Given the description of an element on the screen output the (x, y) to click on. 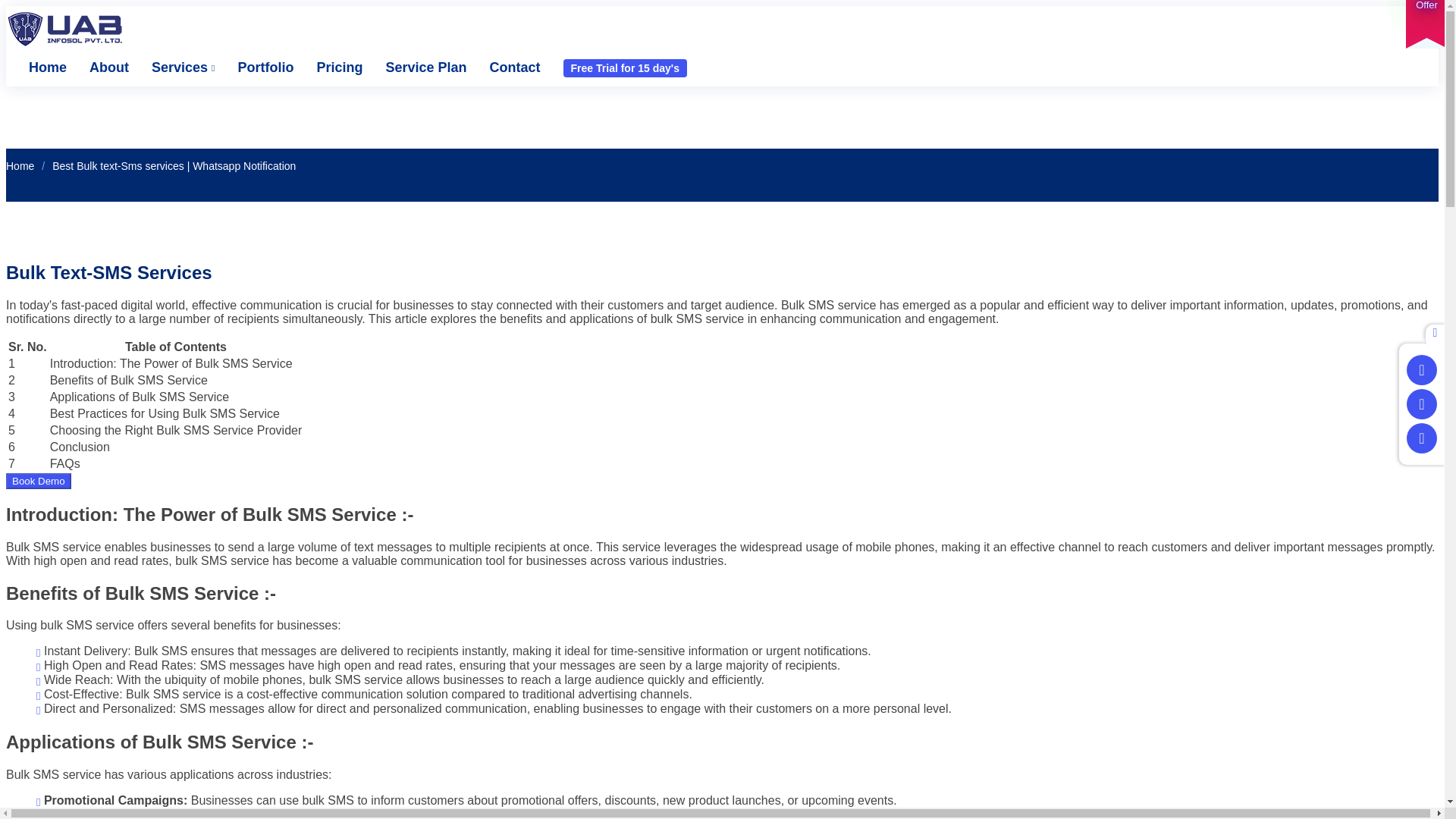
Portfolio (254, 67)
Service Plan (413, 67)
Services (171, 67)
Free Trial for 15 day's (625, 67)
Contact (503, 67)
Home (35, 67)
Pricing (328, 67)
Book Demo (38, 480)
Home (19, 165)
About (97, 67)
